Given the description of an element on the screen output the (x, y) to click on. 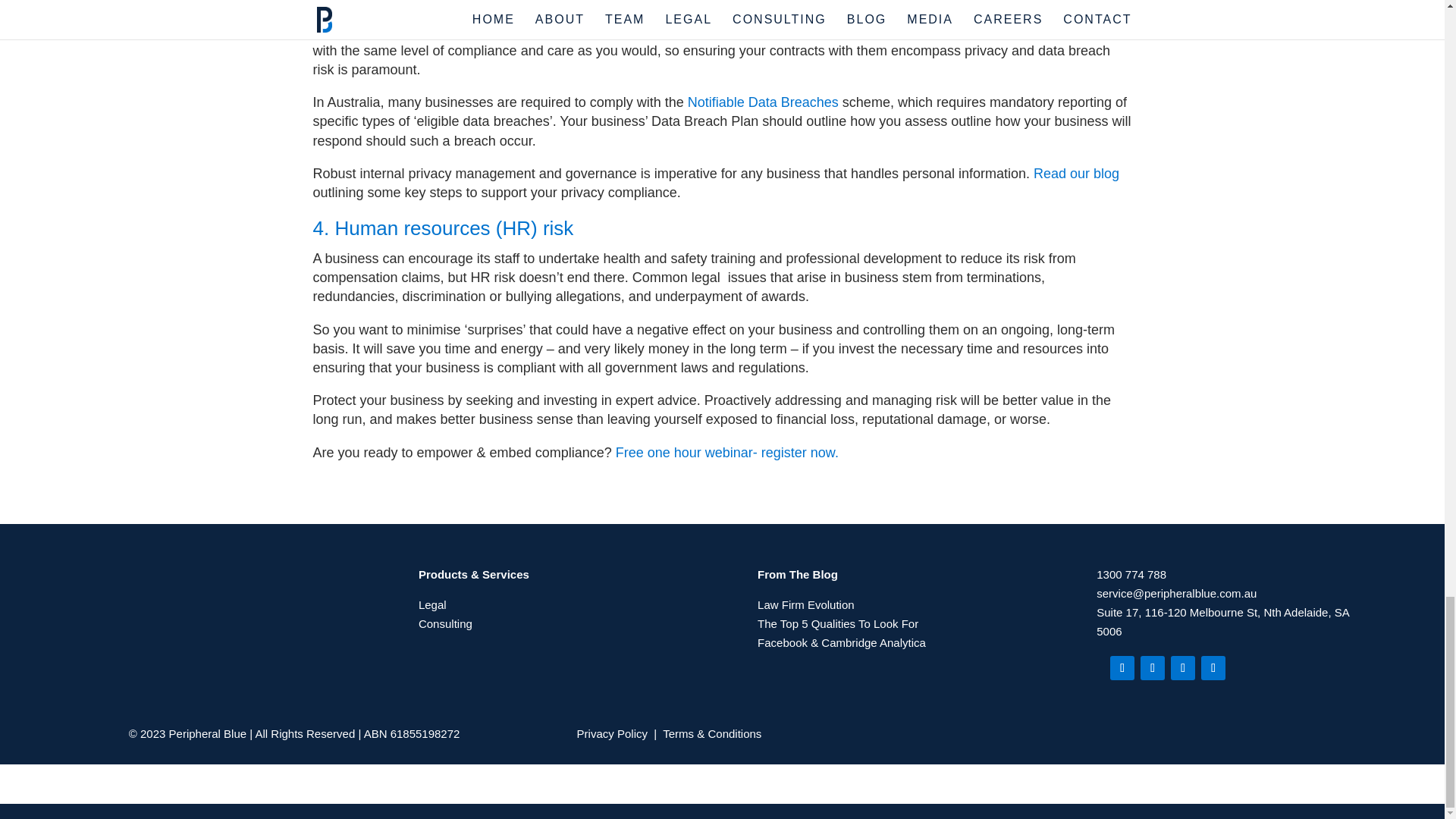
Notifiable Data Breaches (762, 102)
Legal (432, 604)
Follow on Twitter (1213, 668)
Consulting (445, 623)
Follow on LinkedIn (1121, 668)
  Privacy Policy  (610, 733)
The Top 5 Qualities To Look For (837, 623)
Follow on Facebook (1152, 668)
Read our blog (1076, 173)
Free one hour webinar- register now. (726, 451)
Follow on Instagram (1182, 668)
Law Firm Evolution (805, 604)
